Given the description of an element on the screen output the (x, y) to click on. 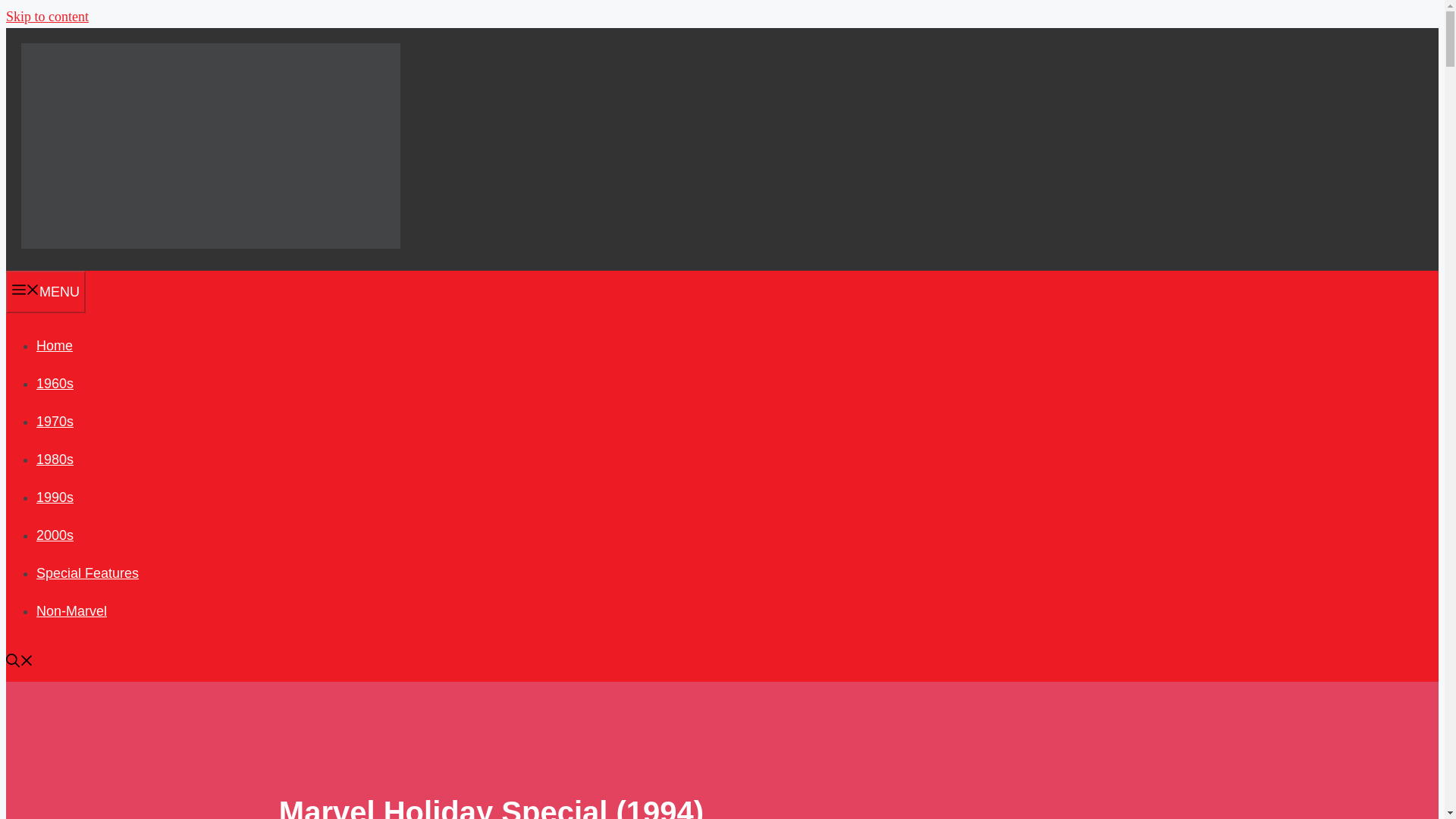
Non-Marvel (71, 611)
Skip to content (46, 16)
Skip to content (46, 16)
1980s (55, 459)
2000s (55, 534)
1960s (55, 383)
Special Features (87, 572)
Home (54, 345)
1990s (55, 497)
MENU (45, 291)
